Given the description of an element on the screen output the (x, y) to click on. 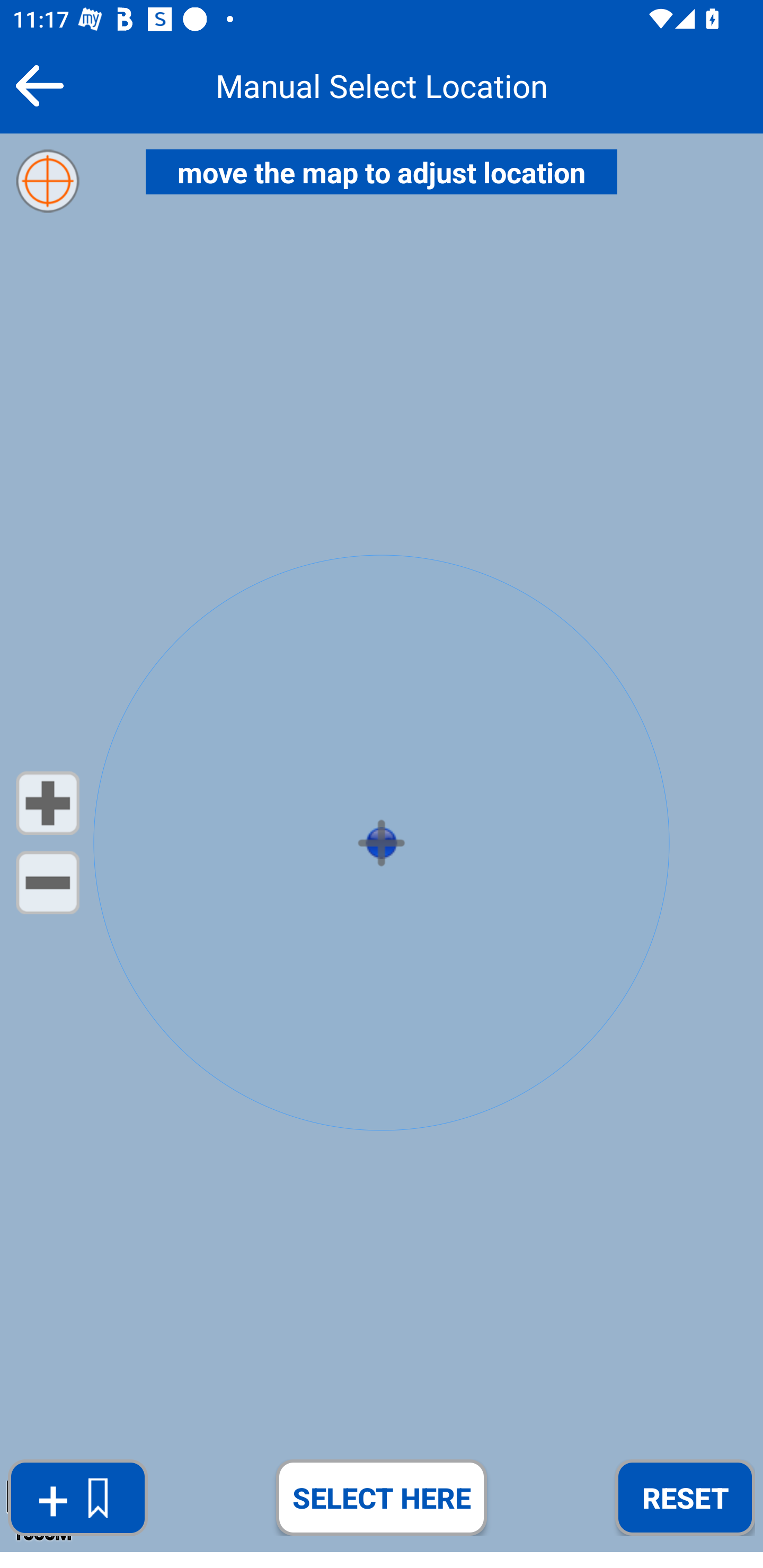
Back (39, 85)
Add bookmark (77, 1497)
SELECT HERE (381, 1497)
RESET (684, 1497)
